Given the description of an element on the screen output the (x, y) to click on. 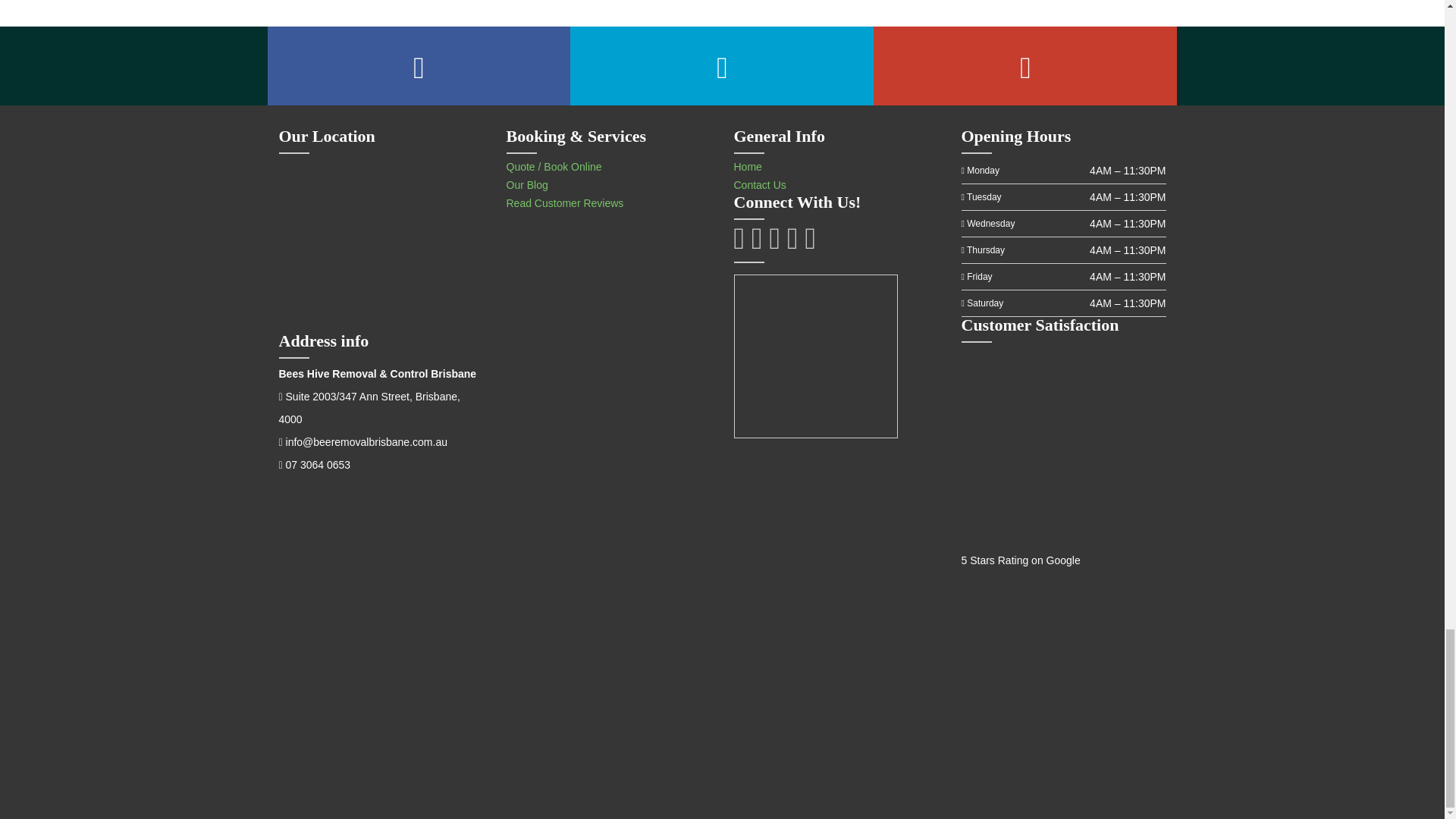
email-address (365, 441)
phone-number (317, 464)
review us on google (1063, 693)
EeoGuard five star rating (1063, 448)
